Given the description of an element on the screen output the (x, y) to click on. 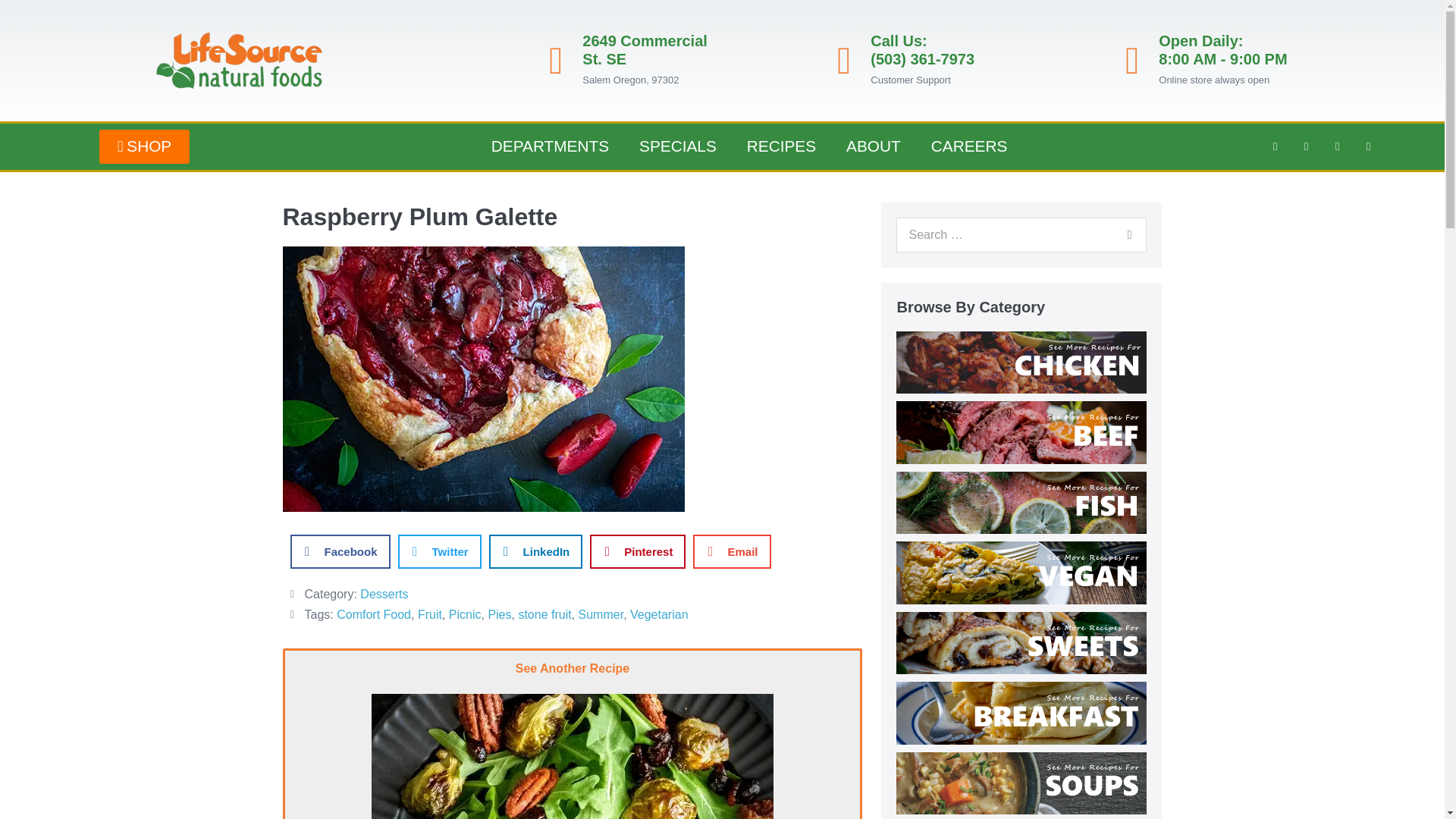
Press enter to search (1021, 234)
DEPARTMENTS (550, 146)
CAREERS (969, 146)
SPECIALS (678, 146)
ABOUT (873, 146)
RECIPES (781, 146)
SHOP (144, 146)
